Given the description of an element on the screen output the (x, y) to click on. 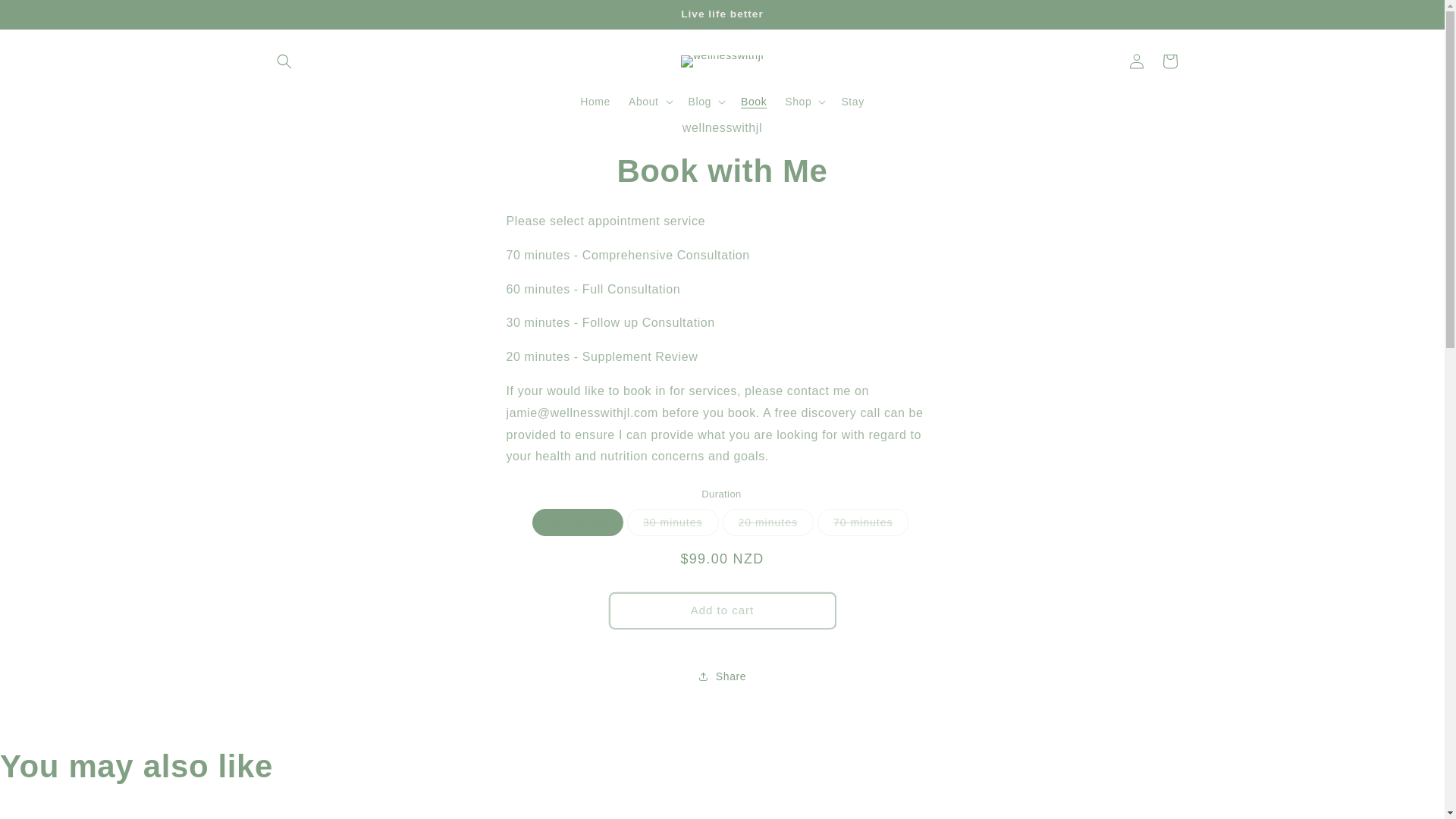
Log in (1136, 61)
Add to cart (721, 610)
Home (595, 101)
Book (754, 101)
Cart (1169, 61)
Stay (851, 101)
Skip to product information (551, 135)
